Given the description of an element on the screen output the (x, y) to click on. 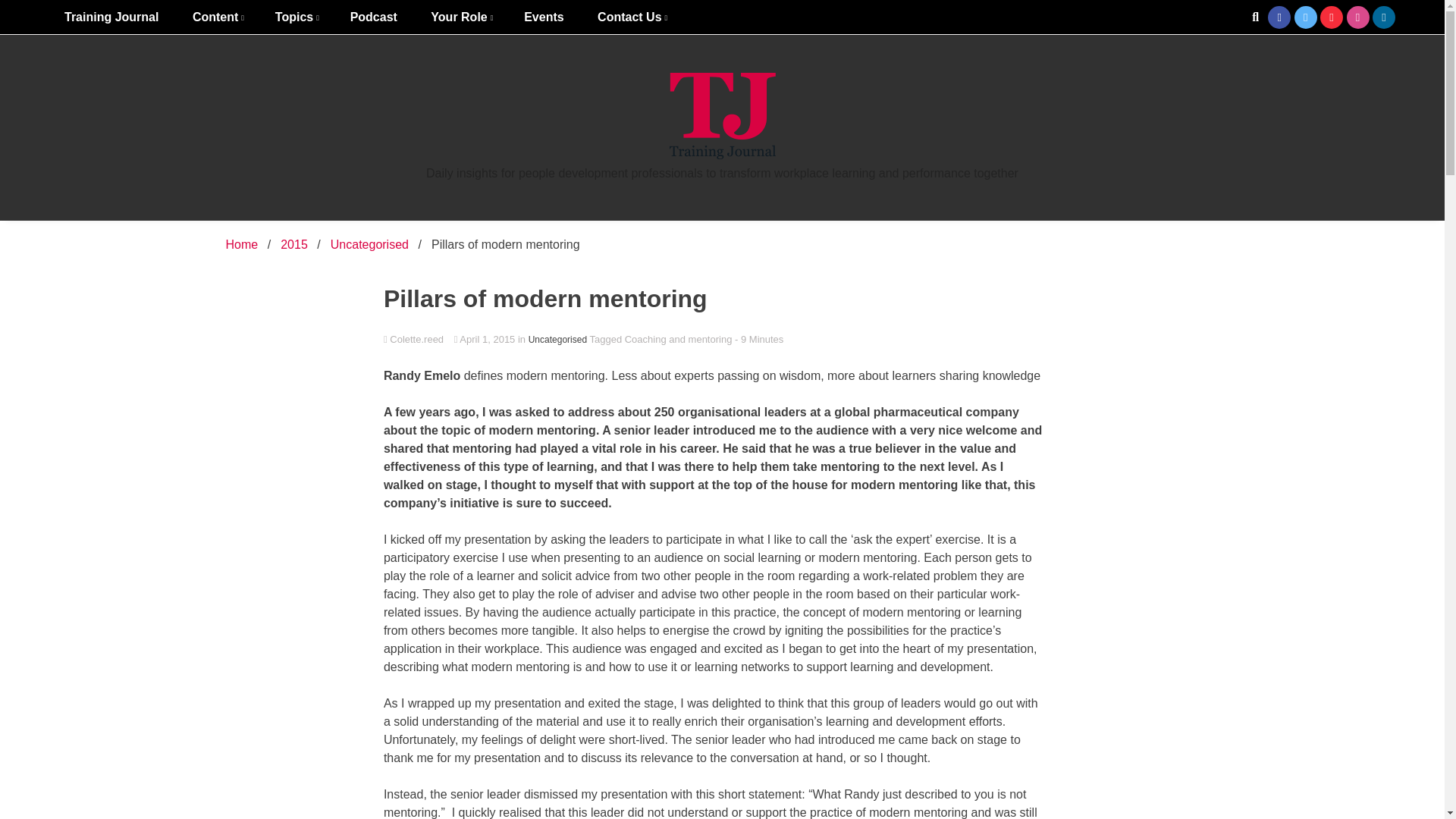
Topics (295, 17)
Content (216, 17)
Estimated Reading Time of Article (759, 338)
Your Role (459, 17)
Events (543, 17)
Training Journal (111, 17)
Podcast (373, 17)
